Given the description of an element on the screen output the (x, y) to click on. 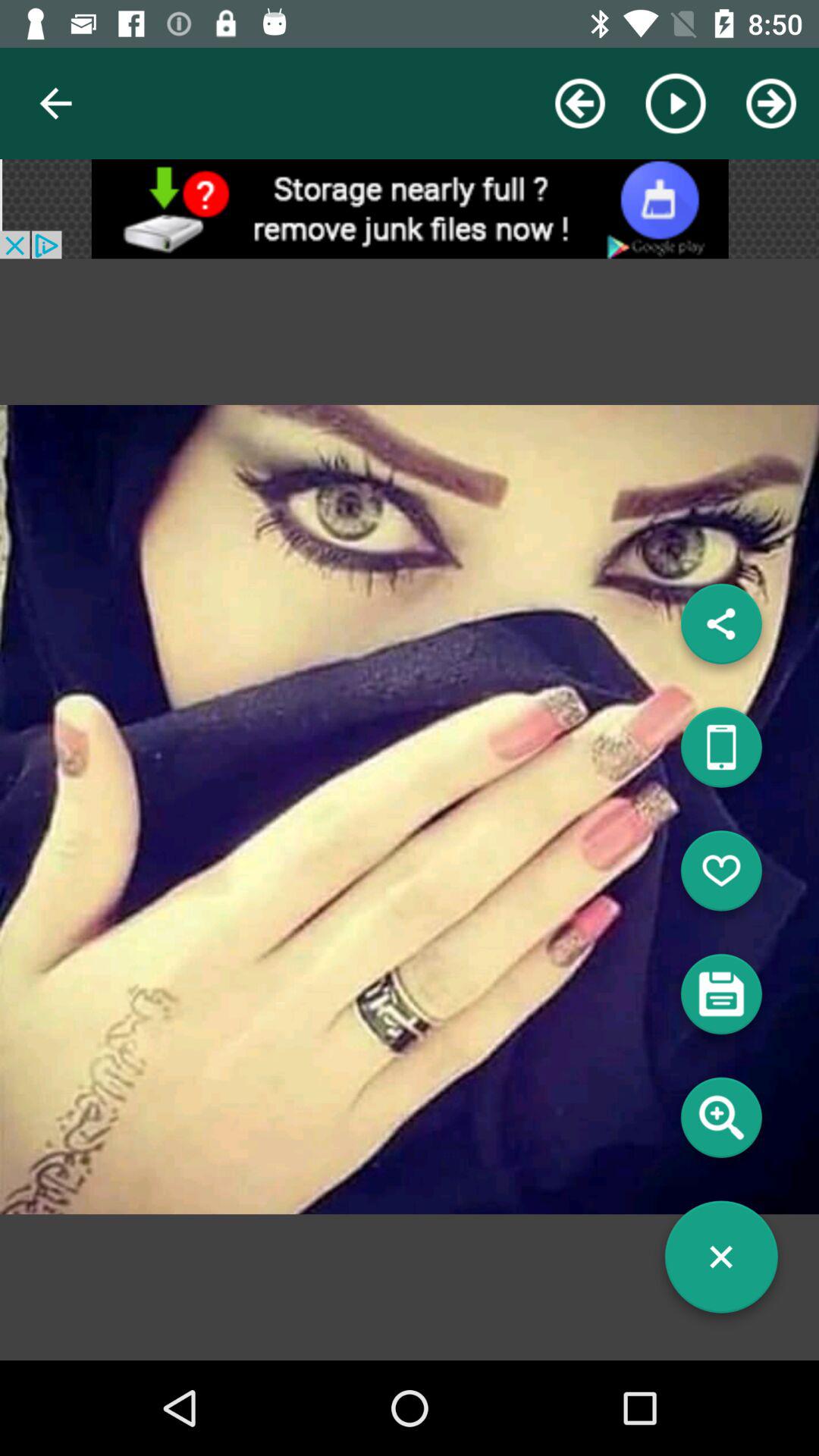
close menu (721, 1262)
